Given the description of an element on the screen output the (x, y) to click on. 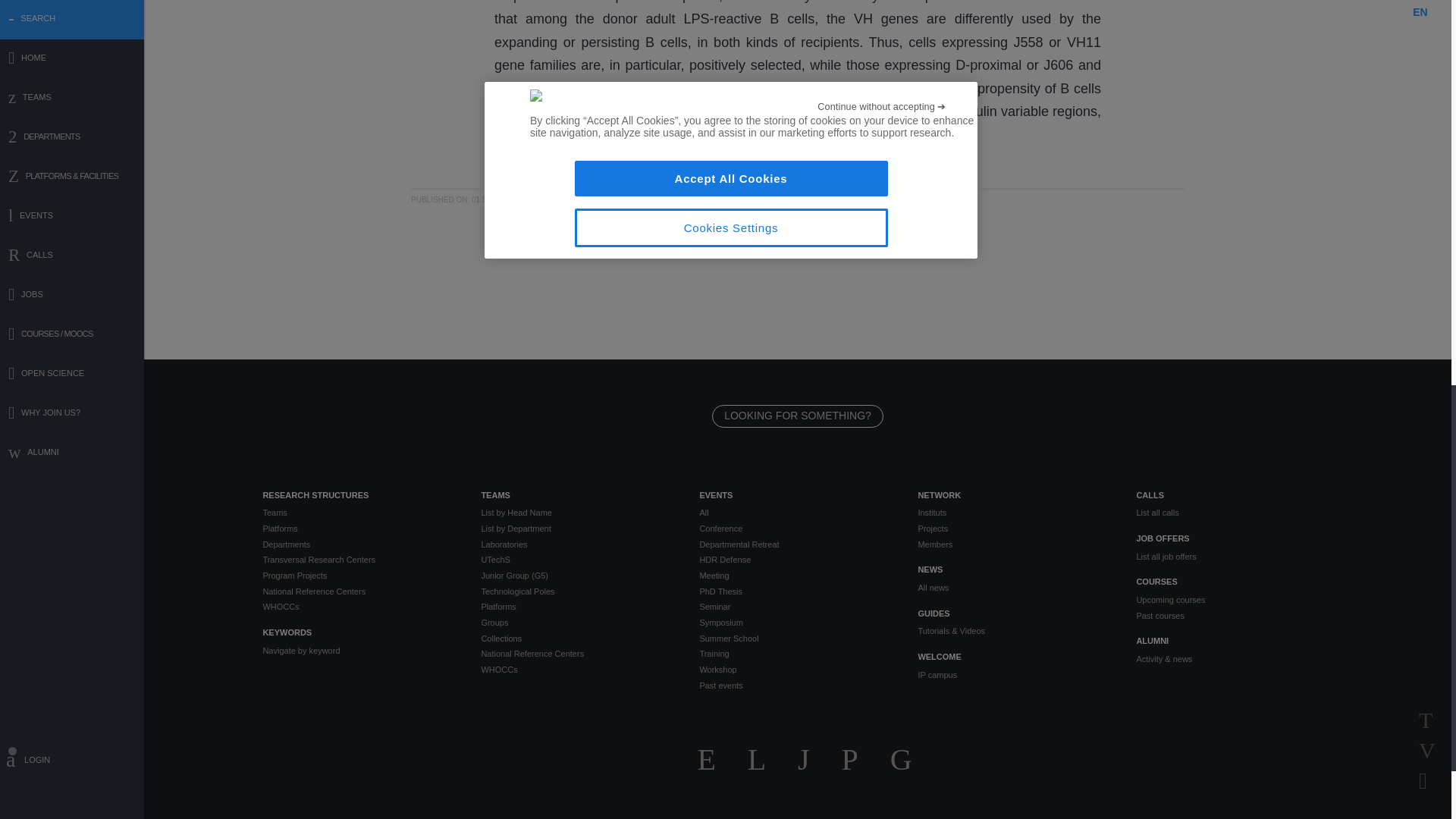
Teams (360, 513)
Departments (360, 544)
Transversal Research Centers (360, 559)
Platforms (360, 528)
